Given the description of an element on the screen output the (x, y) to click on. 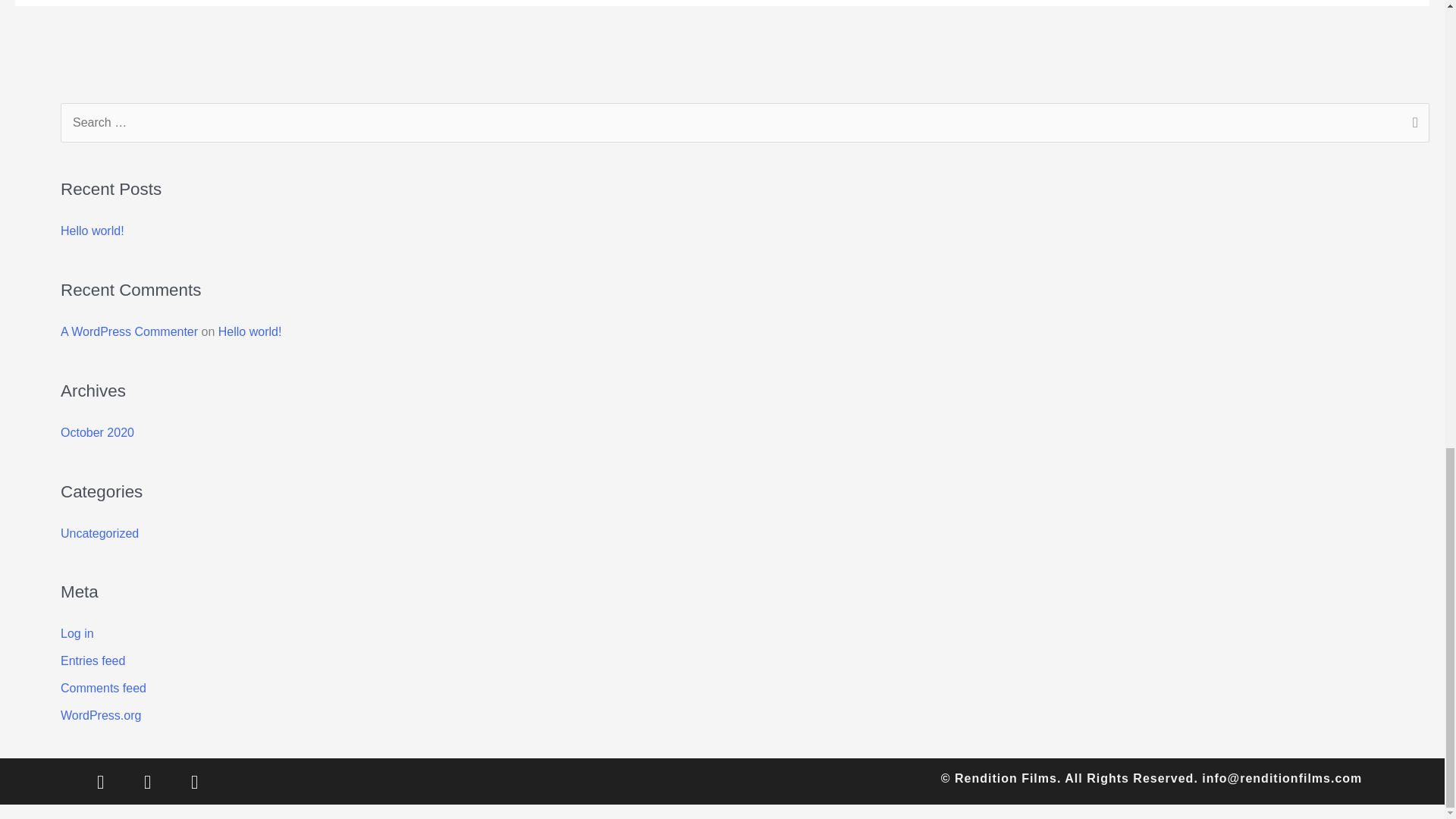
Log in (77, 633)
A WordPress Commenter (129, 331)
Search (1411, 124)
October 2020 (97, 431)
Search (1411, 124)
Hello world! (250, 331)
WordPress.org (101, 715)
Comments feed (104, 687)
Search (1411, 124)
Uncategorized (99, 533)
Hello world! (92, 230)
Entries feed (93, 660)
